Given the description of an element on the screen output the (x, y) to click on. 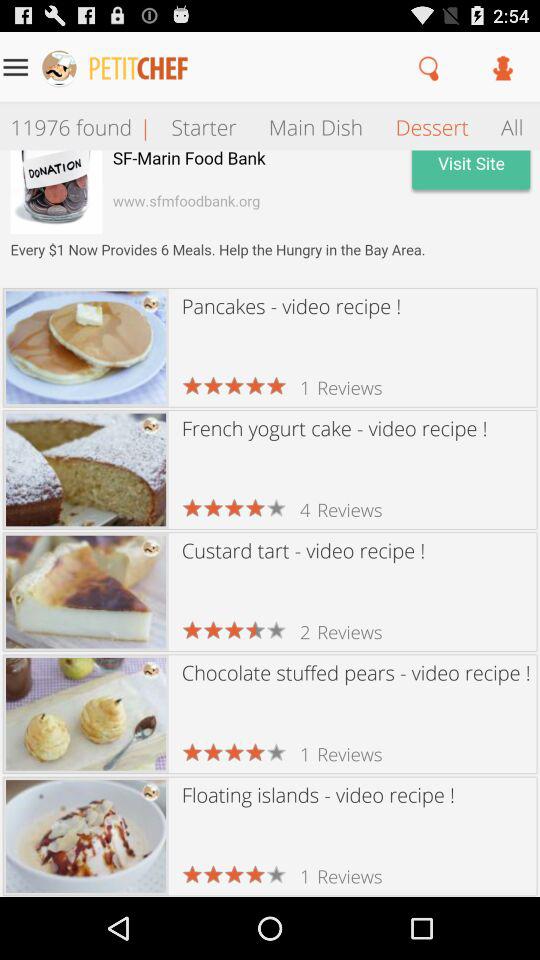
go to advertisement (270, 218)
